Given the description of an element on the screen output the (x, y) to click on. 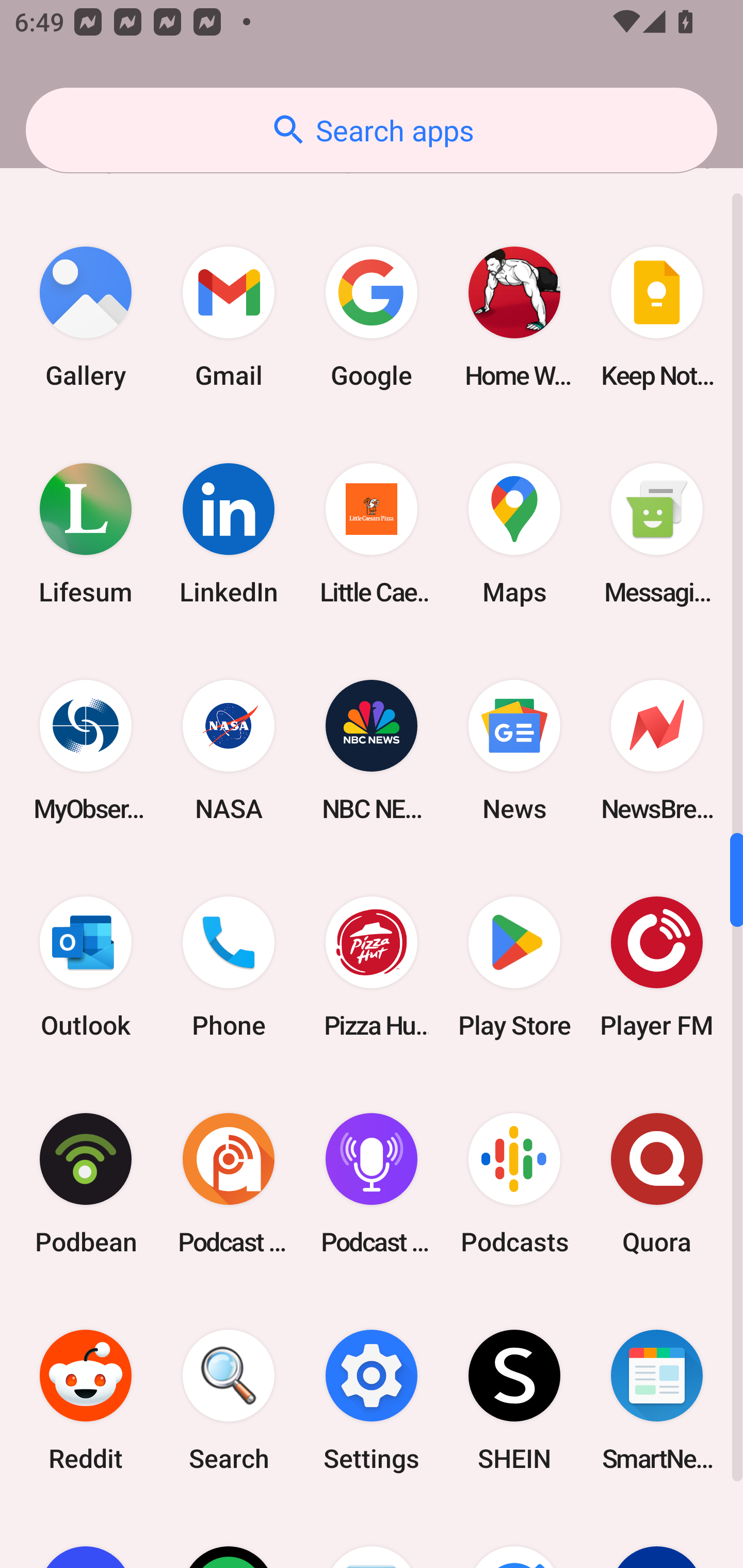
  Search apps (371, 130)
Gallery (85, 316)
Gmail (228, 316)
Google (371, 316)
Home Workout (514, 316)
Keep Notes (656, 316)
Lifesum (85, 533)
LinkedIn (228, 533)
Little Caesars Pizza (371, 533)
Maps (514, 533)
Messaging (656, 533)
MyObservatory (85, 750)
NASA (228, 750)
NBC NEWS (371, 750)
News (514, 750)
NewsBreak (656, 750)
Outlook (85, 967)
Phone (228, 967)
Pizza Hut HK & Macau (371, 967)
Play Store (514, 967)
Player FM (656, 967)
Podbean (85, 1183)
Podcast Addict (228, 1183)
Podcast Player (371, 1183)
Podcasts (514, 1183)
Quora (656, 1183)
Reddit (85, 1400)
Search (228, 1400)
Settings (371, 1400)
SHEIN (514, 1400)
SmartNews (656, 1400)
